Given the description of an element on the screen output the (x, y) to click on. 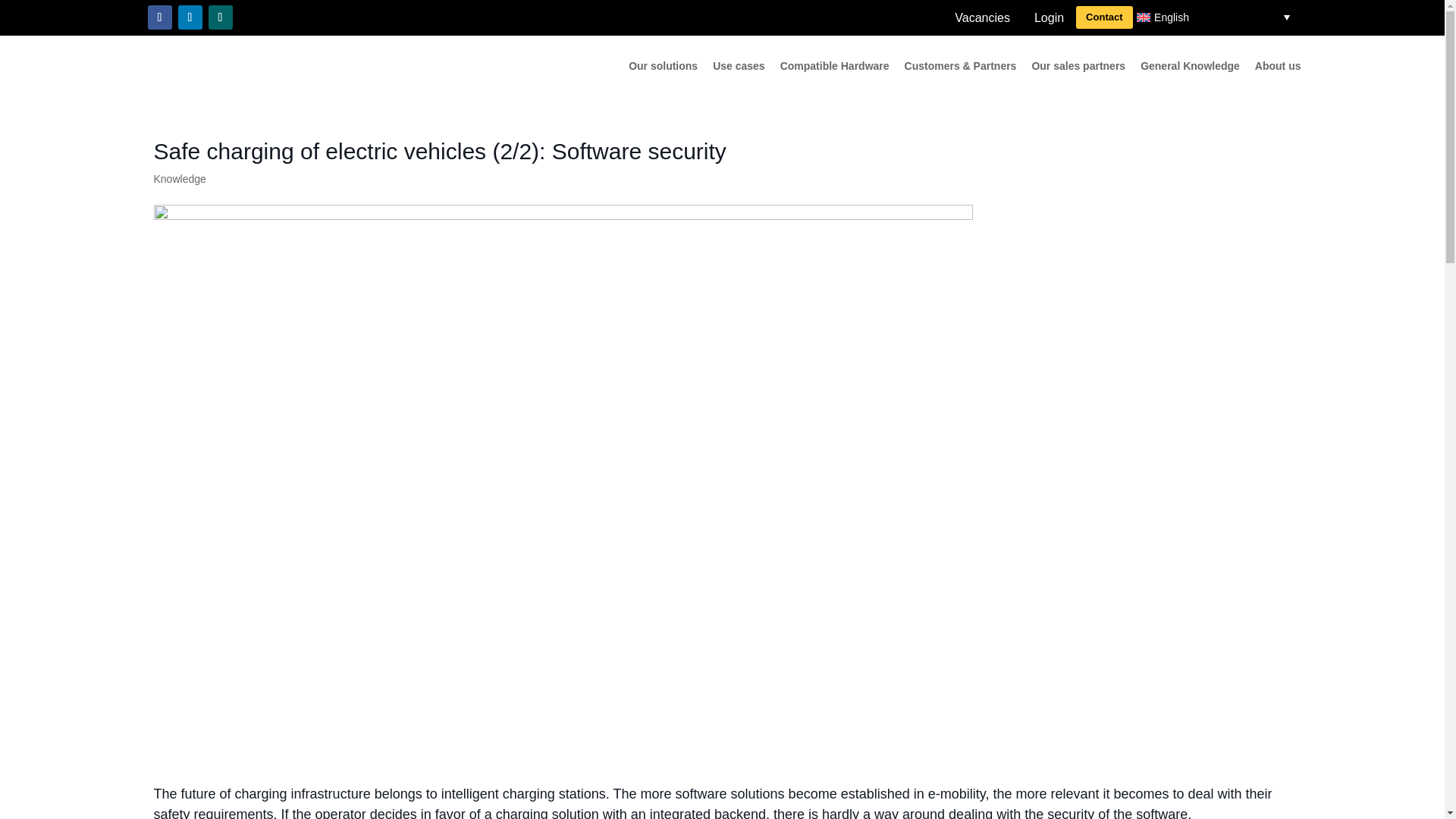
General Knowledge (1190, 68)
Compatible Hardware (834, 68)
Login (1048, 17)
English (1214, 16)
Our solutions (662, 68)
Our sales partners (1077, 68)
About us (1278, 68)
Follow on Facebook (159, 16)
Follow on LinkedIn (189, 16)
Use cases (739, 68)
Contact (1103, 16)
Follow on XING (219, 16)
Vacancies (982, 17)
